Given the description of an element on the screen output the (x, y) to click on. 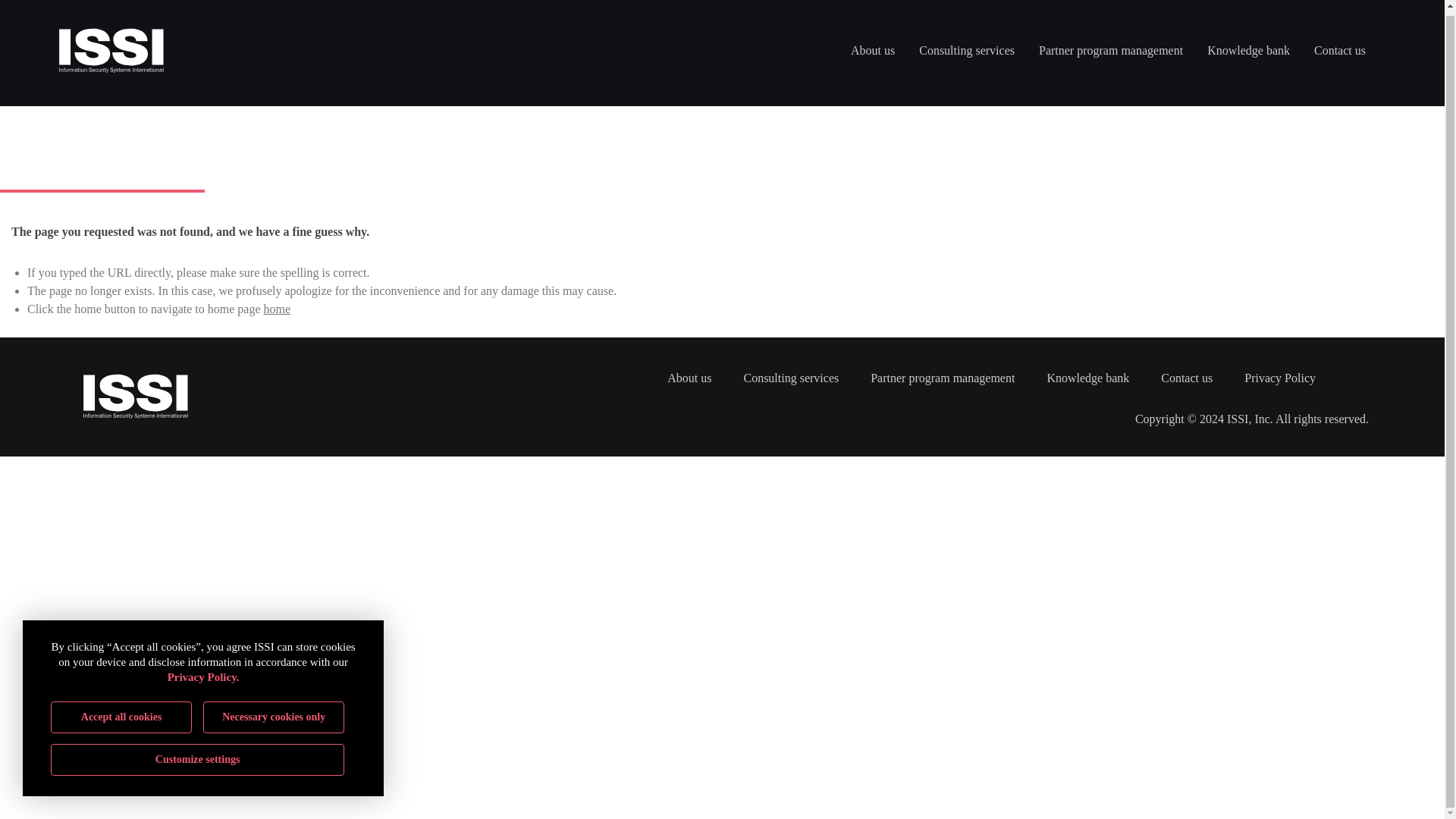
About us (872, 50)
Knowledge bank (1248, 50)
Partner program management (1110, 50)
Contact us (1339, 50)
Consulting services (966, 50)
